Given the description of an element on the screen output the (x, y) to click on. 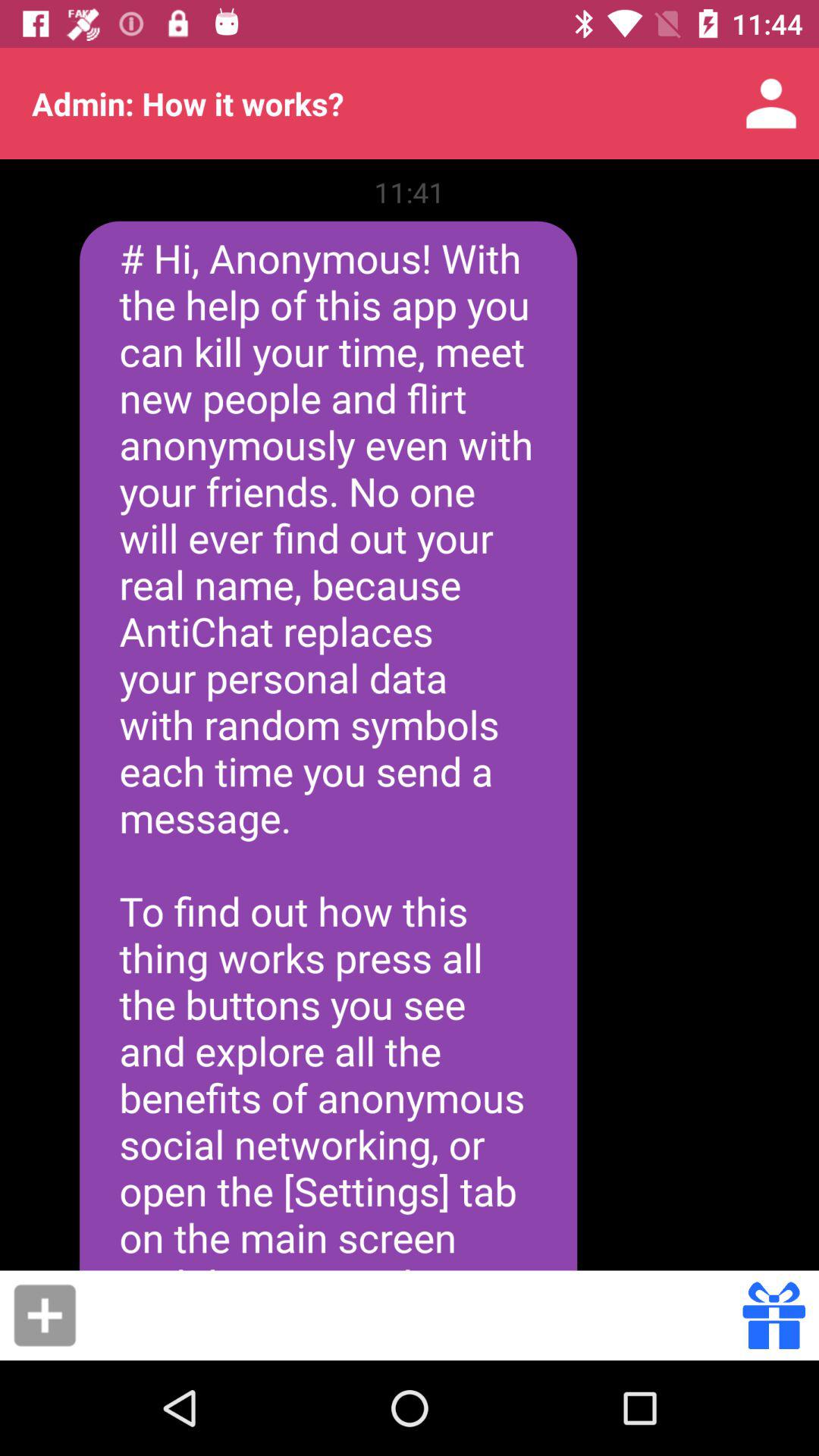
send gift (774, 1315)
